Given the description of an element on the screen output the (x, y) to click on. 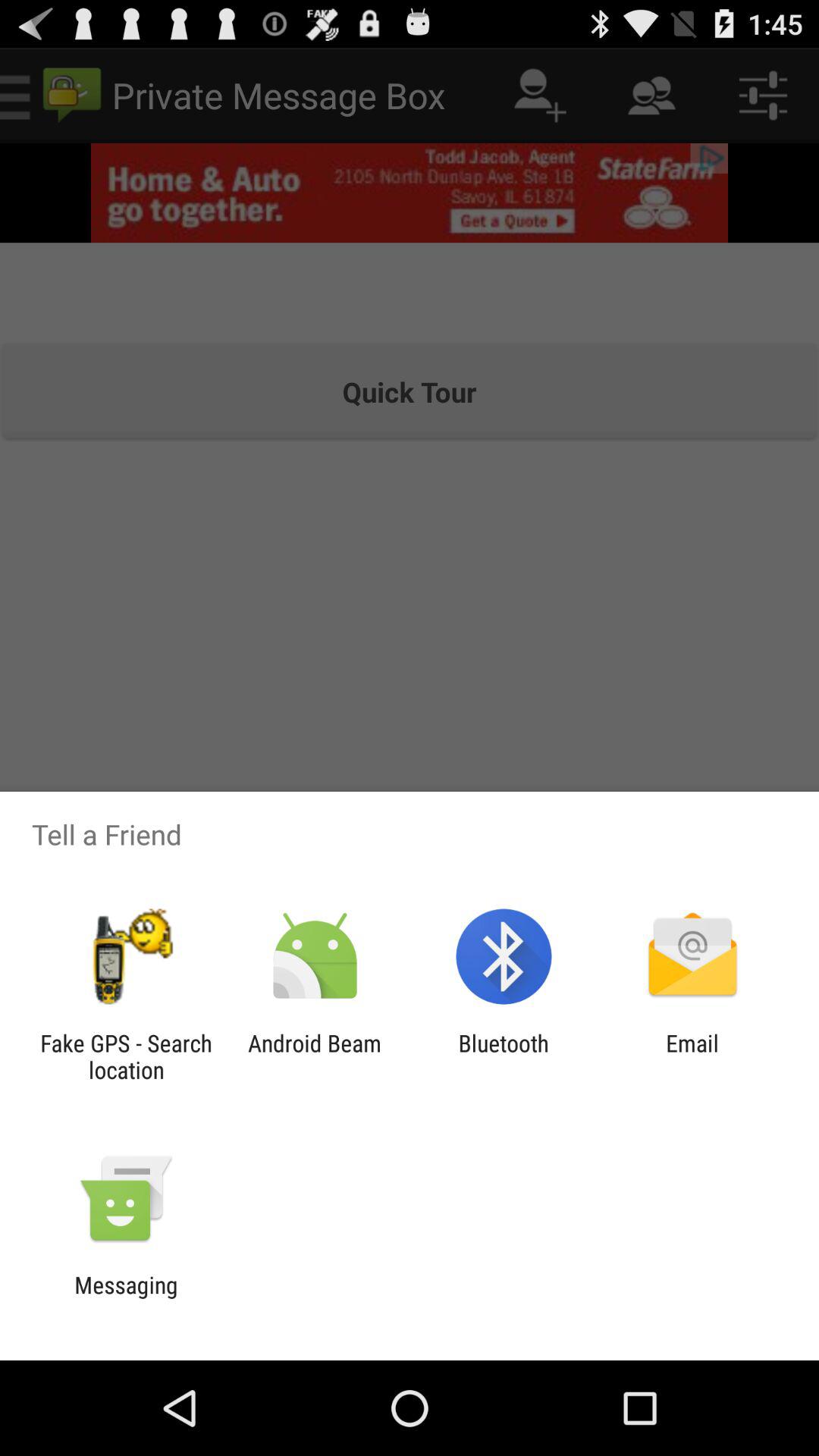
swipe to the messaging item (126, 1298)
